Given the description of an element on the screen output the (x, y) to click on. 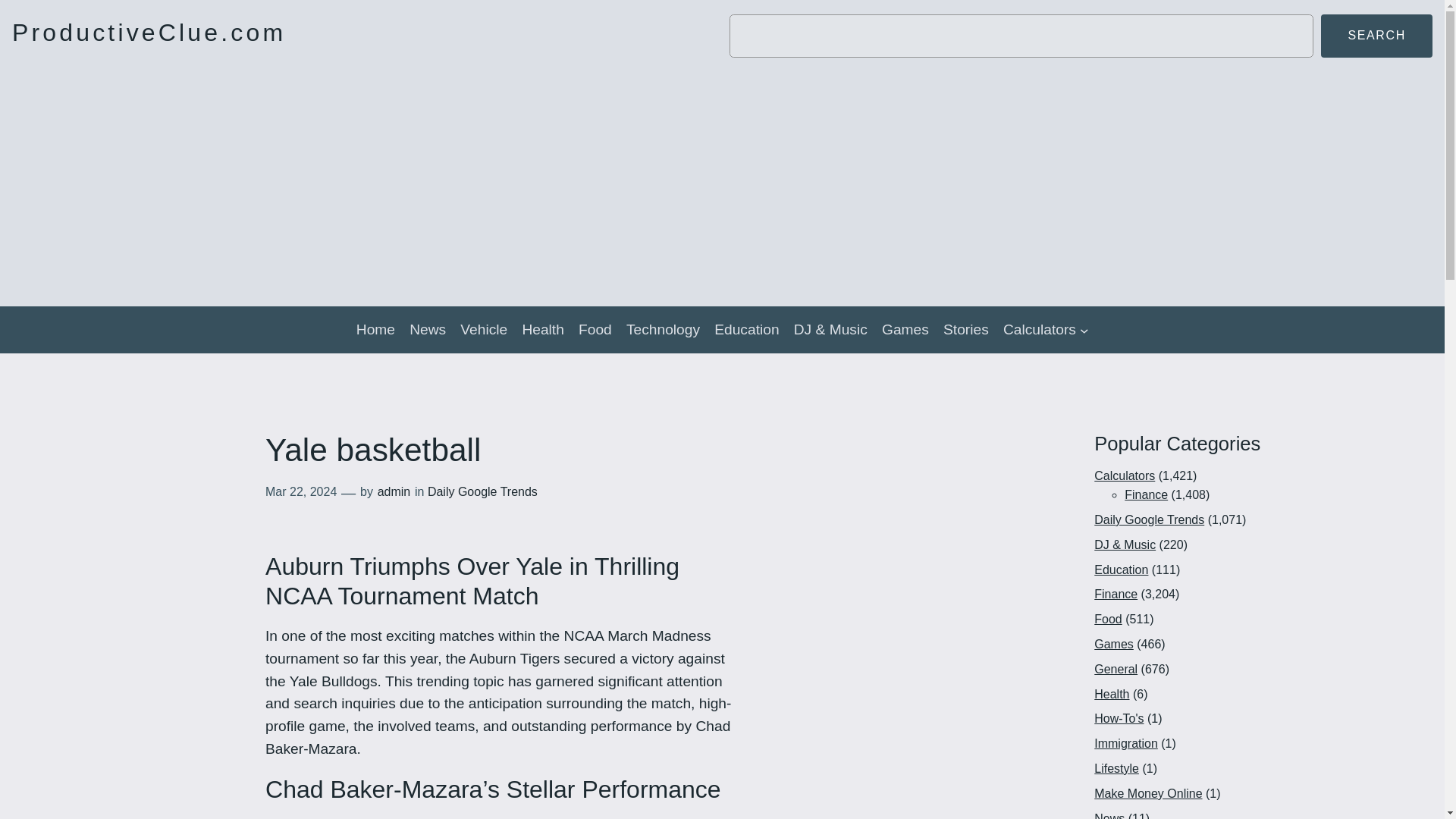
Lifestyle (1116, 768)
Daily Google Trends (1149, 519)
Education (746, 329)
Calculators (1124, 475)
admin (393, 491)
Calculators (1039, 329)
Mar 22, 2024 (300, 491)
News (427, 329)
Make Money Online (1148, 793)
